Given the description of an element on the screen output the (x, y) to click on. 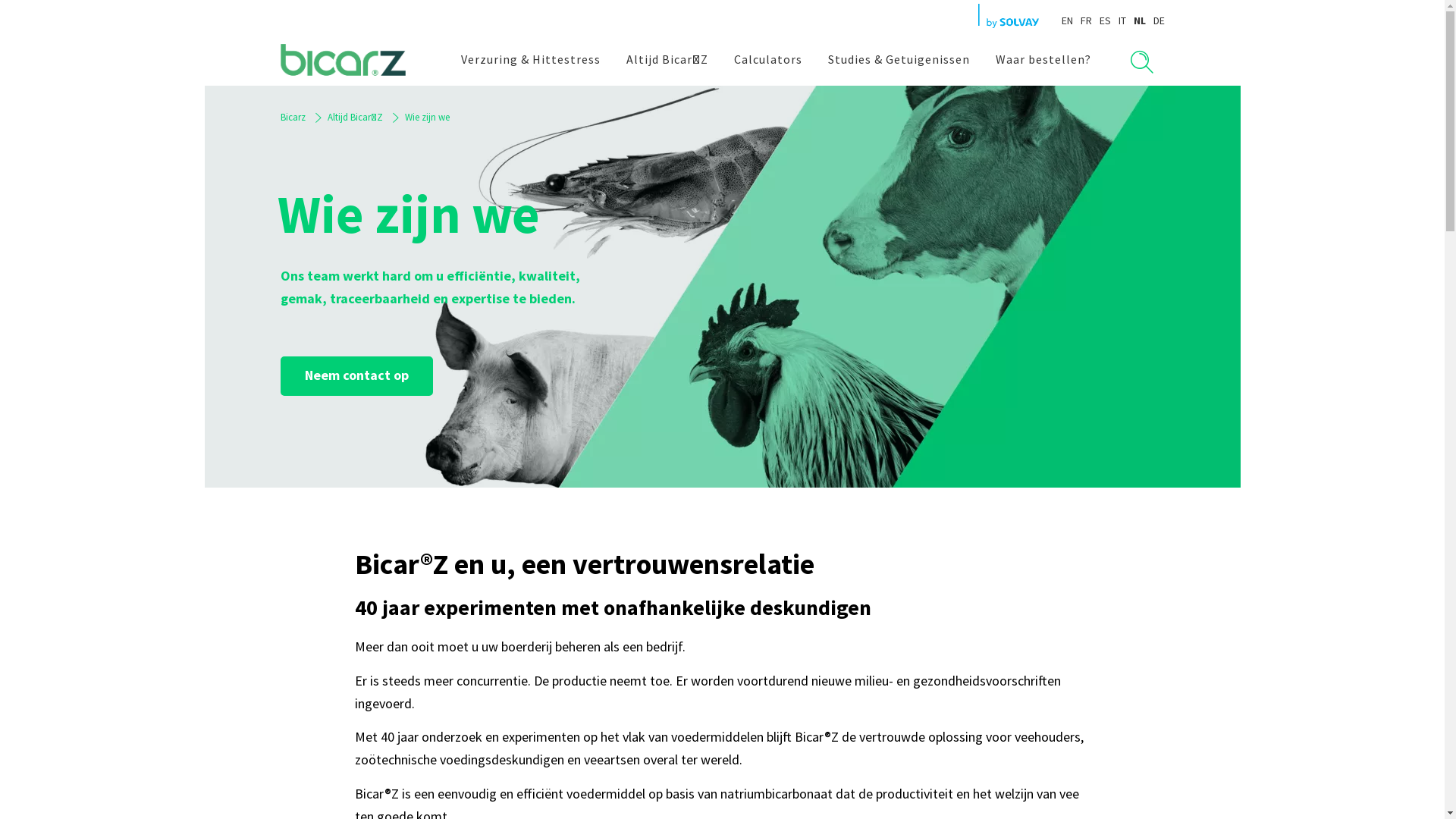
BicarZ bicarbonate buffer Element type: hover (722, 286)
Bicarz Element type: text (292, 117)
Studies & Getuigenissen Element type: text (898, 59)
Doorgaan naar inhoud Element type: text (0, 85)
FR Element type: text (1085, 20)
Calculators Element type: text (767, 59)
Neem contact op Element type: text (356, 375)
IT Element type: text (1121, 20)
Verzuring & Hittestress Element type: text (529, 59)
DE Element type: text (1158, 20)
ES Element type: text (1104, 20)
EN Element type: text (1067, 20)
NL Element type: text (1138, 20)
Waar bestellen? Element type: text (1043, 59)
